Given the description of an element on the screen output the (x, y) to click on. 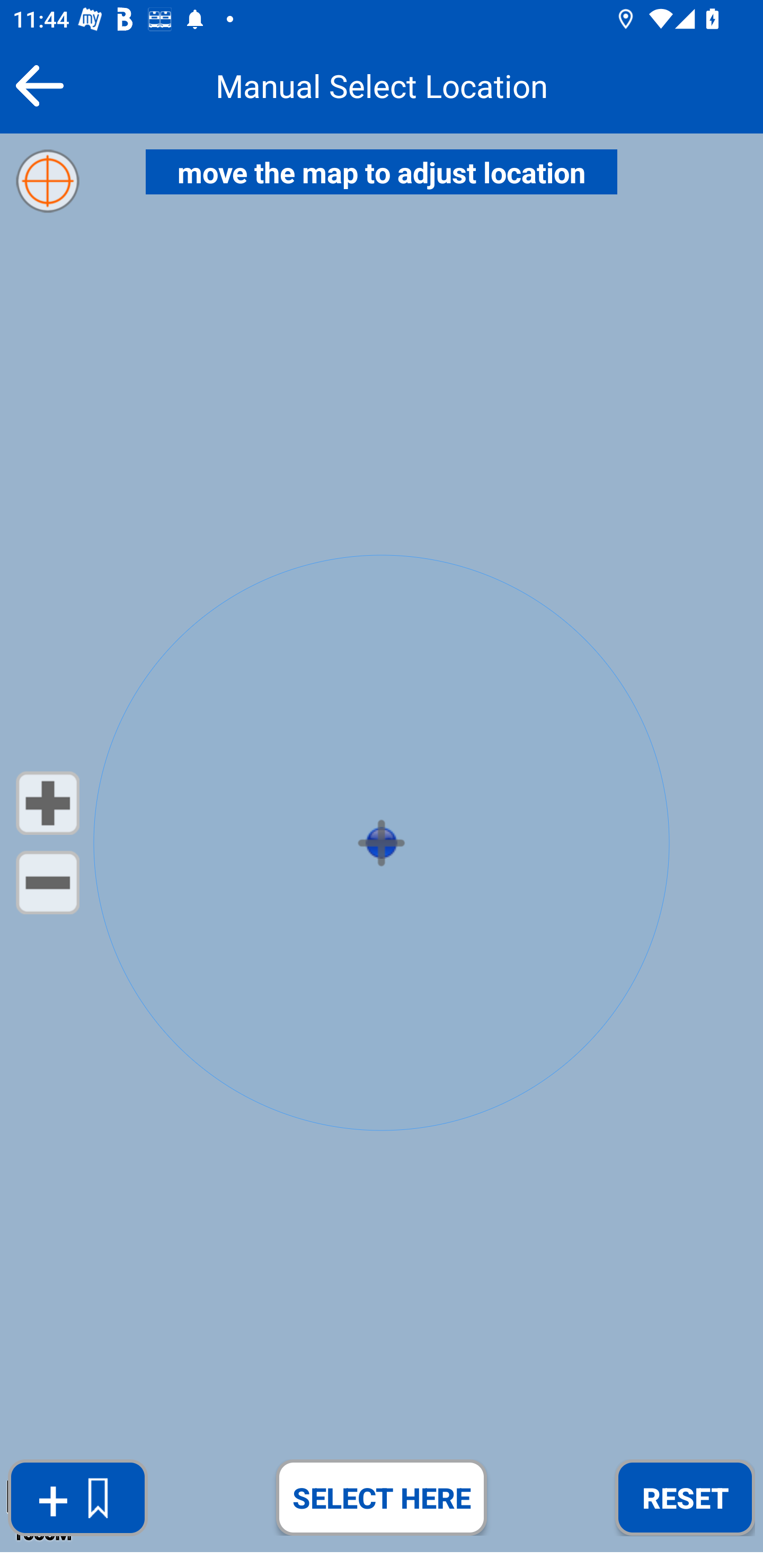
Back (39, 85)
Add bookmark (77, 1497)
SELECT HERE (381, 1497)
RESET (684, 1497)
